Given the description of an element on the screen output the (x, y) to click on. 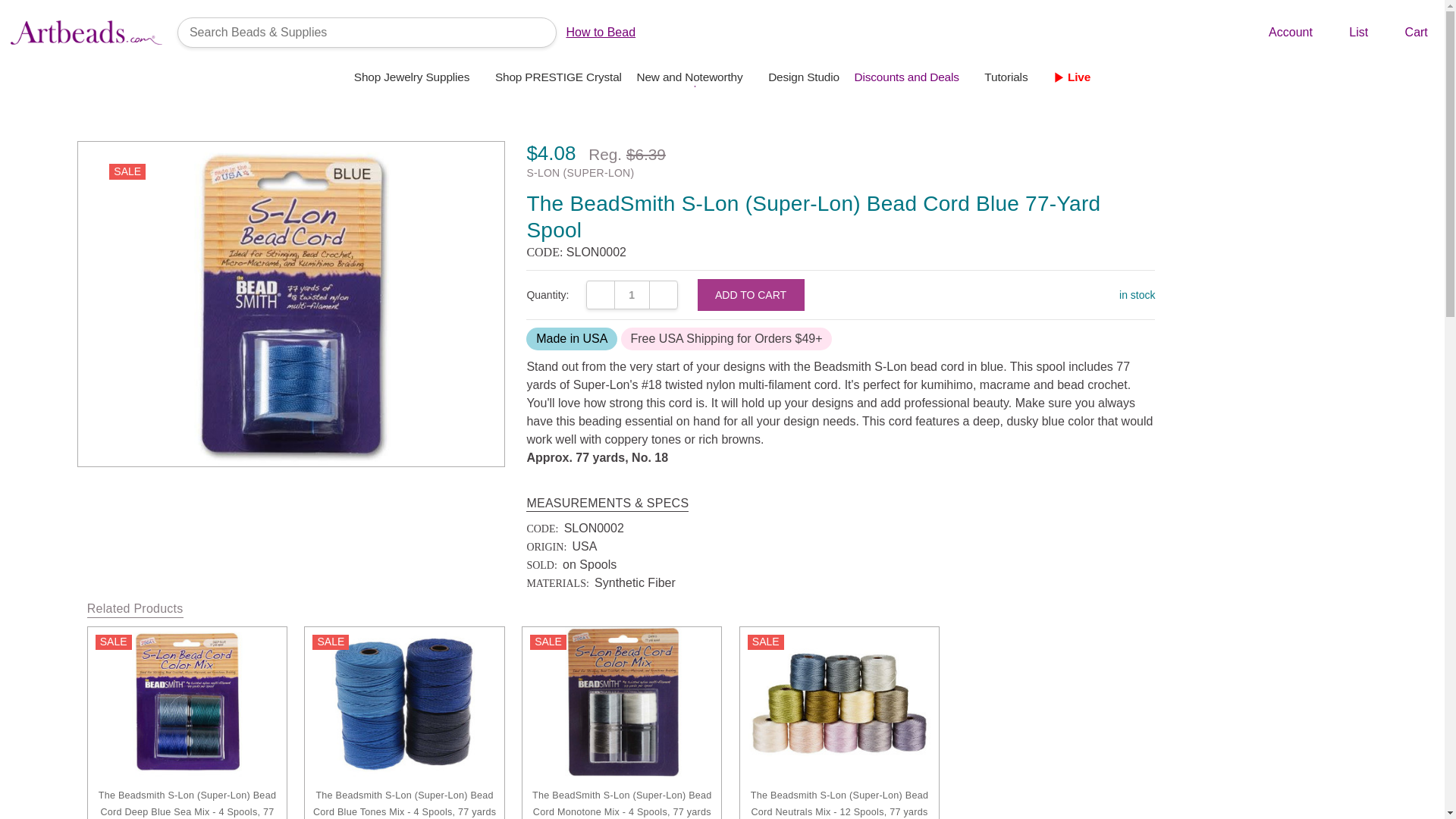
Shop Jewelry Supplies (416, 76)
1 (631, 295)
New and Noteworthy (694, 76)
Cart (1404, 32)
List (1346, 32)
Shop PRESTIGE Crystal (557, 76)
Artbeads.com (85, 32)
Account (1279, 32)
Add to Cart (751, 295)
How to Bead (600, 31)
